Given the description of an element on the screen output the (x, y) to click on. 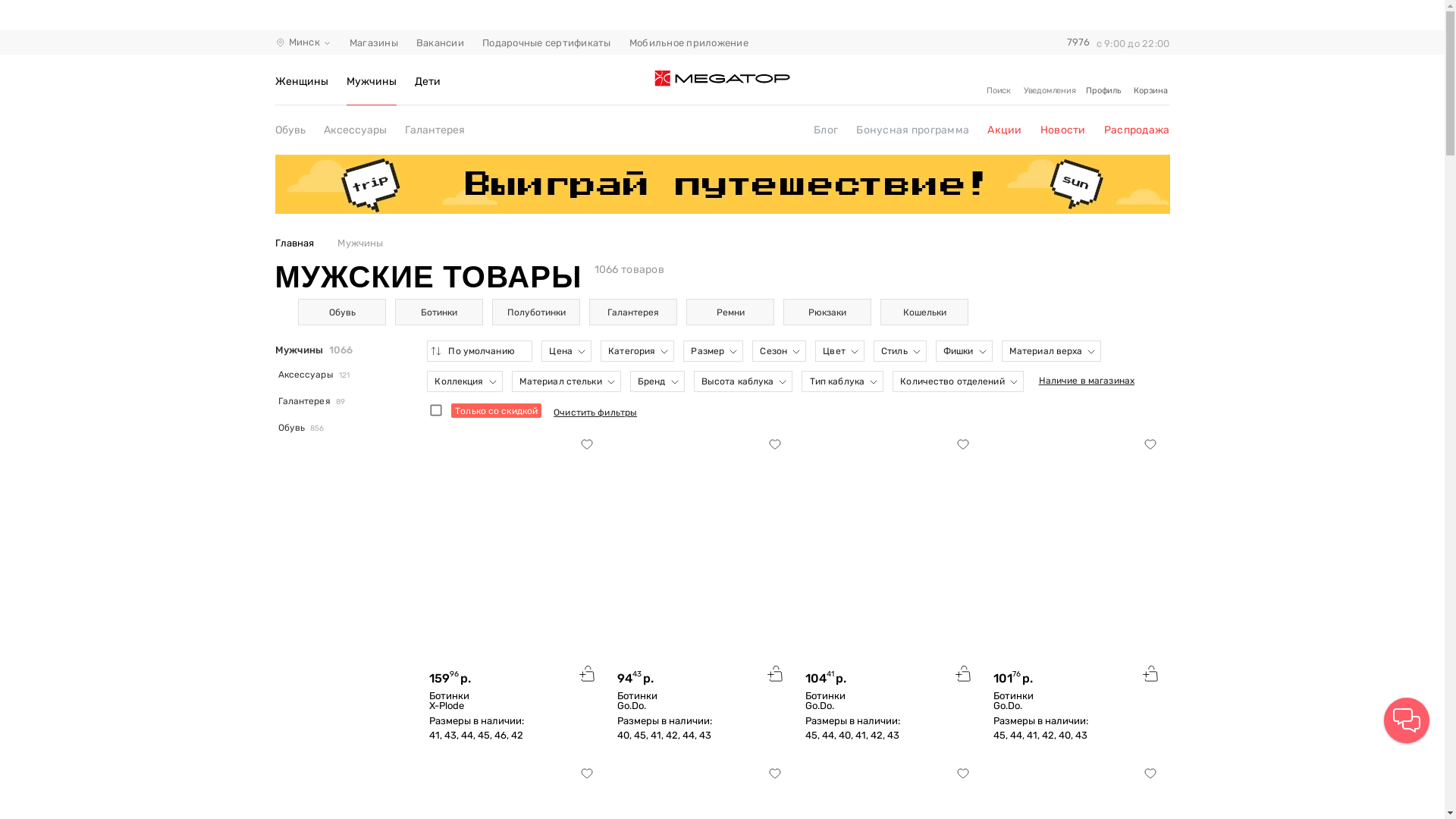
7976 Element type: text (1076, 42)
